Given the description of an element on the screen output the (x, y) to click on. 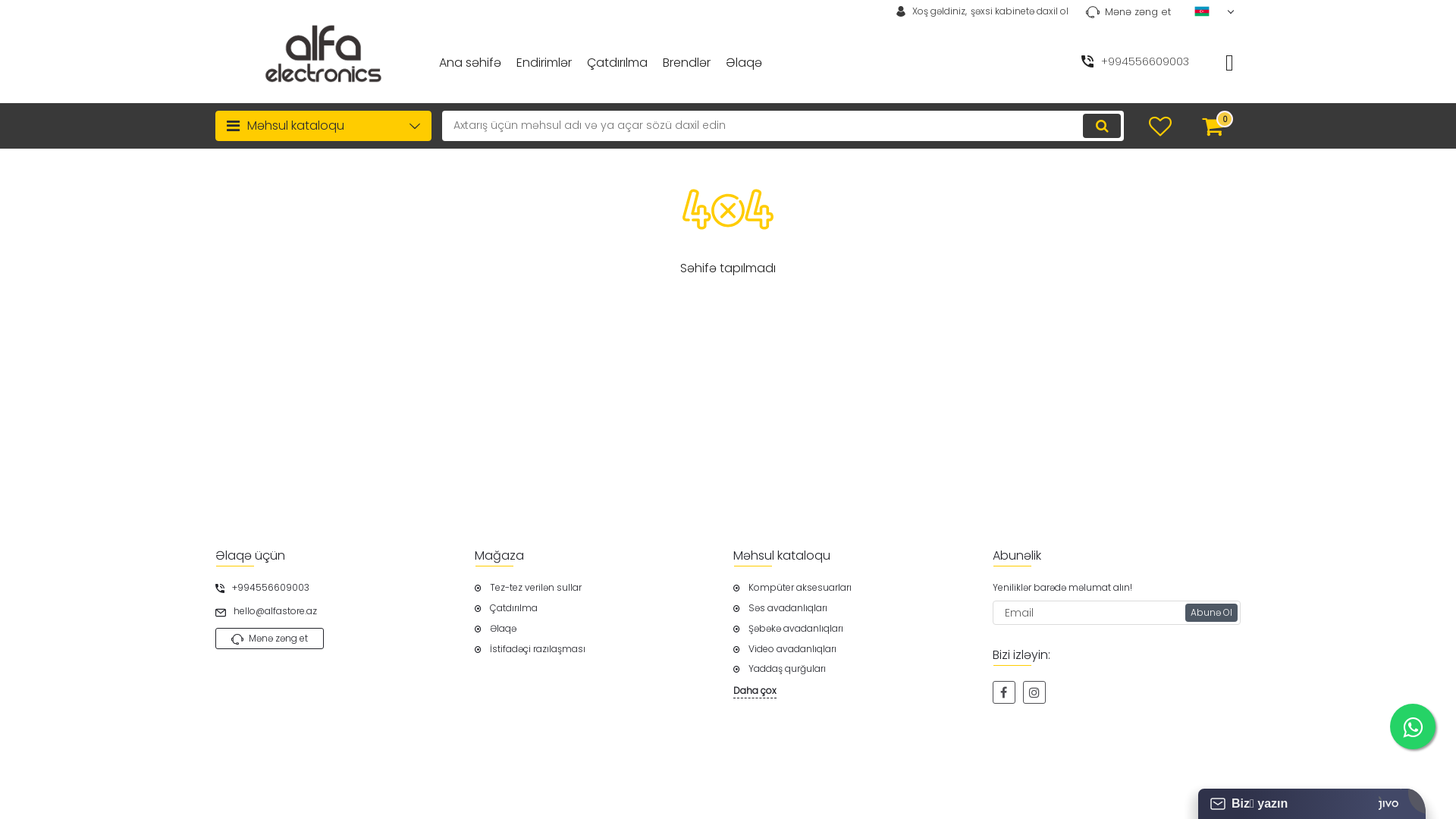
+994556609003 Element type: text (1155, 61)
+994556609003 Element type: text (339, 587)
instagram Element type: hover (1033, 691)
hello@alfastore.az Element type: text (339, 611)
facebook Element type: hover (1002, 691)
